Given the description of an element on the screen output the (x, y) to click on. 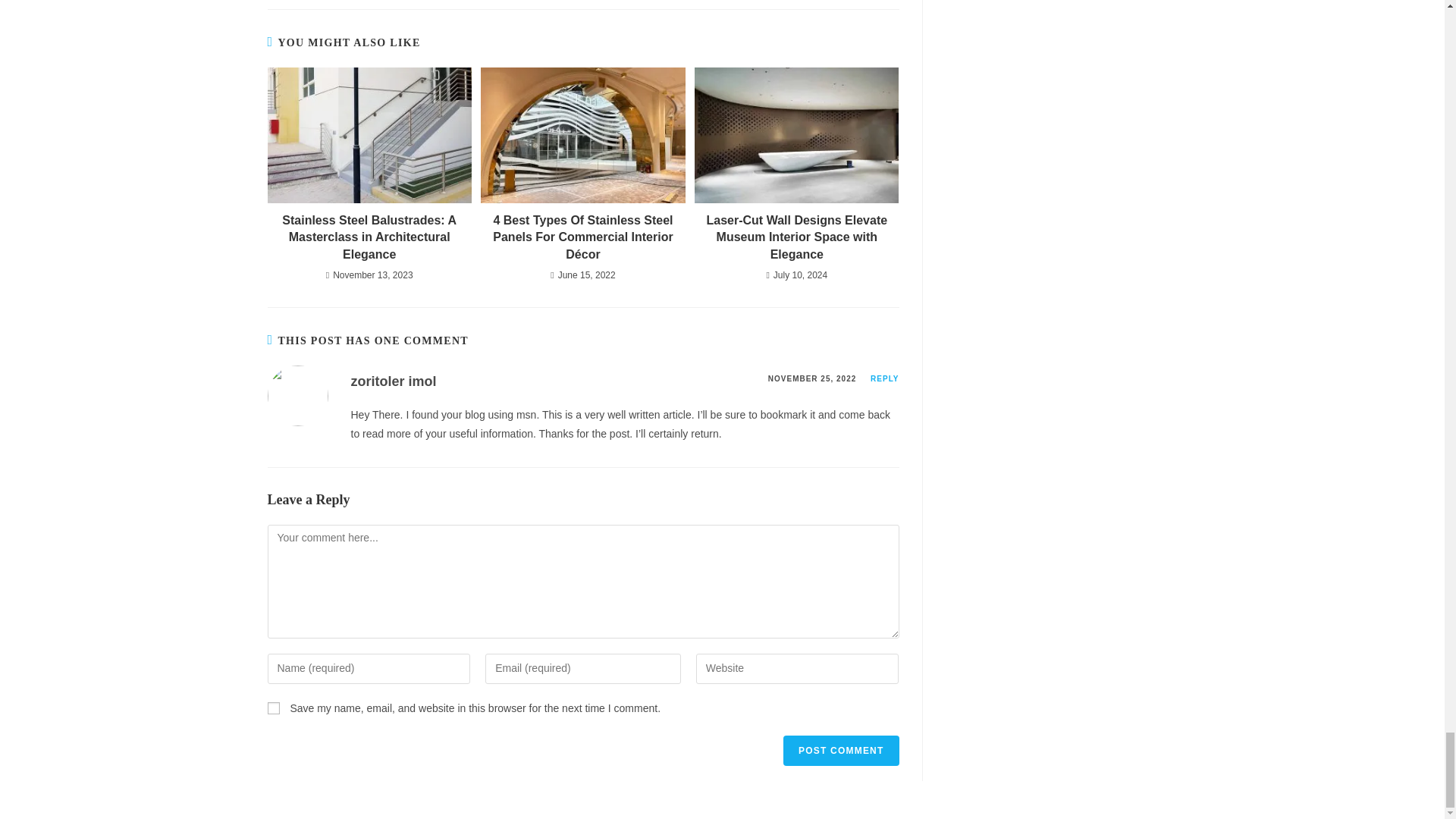
yes (272, 707)
Post Comment (840, 750)
